Given the description of an element on the screen output the (x, y) to click on. 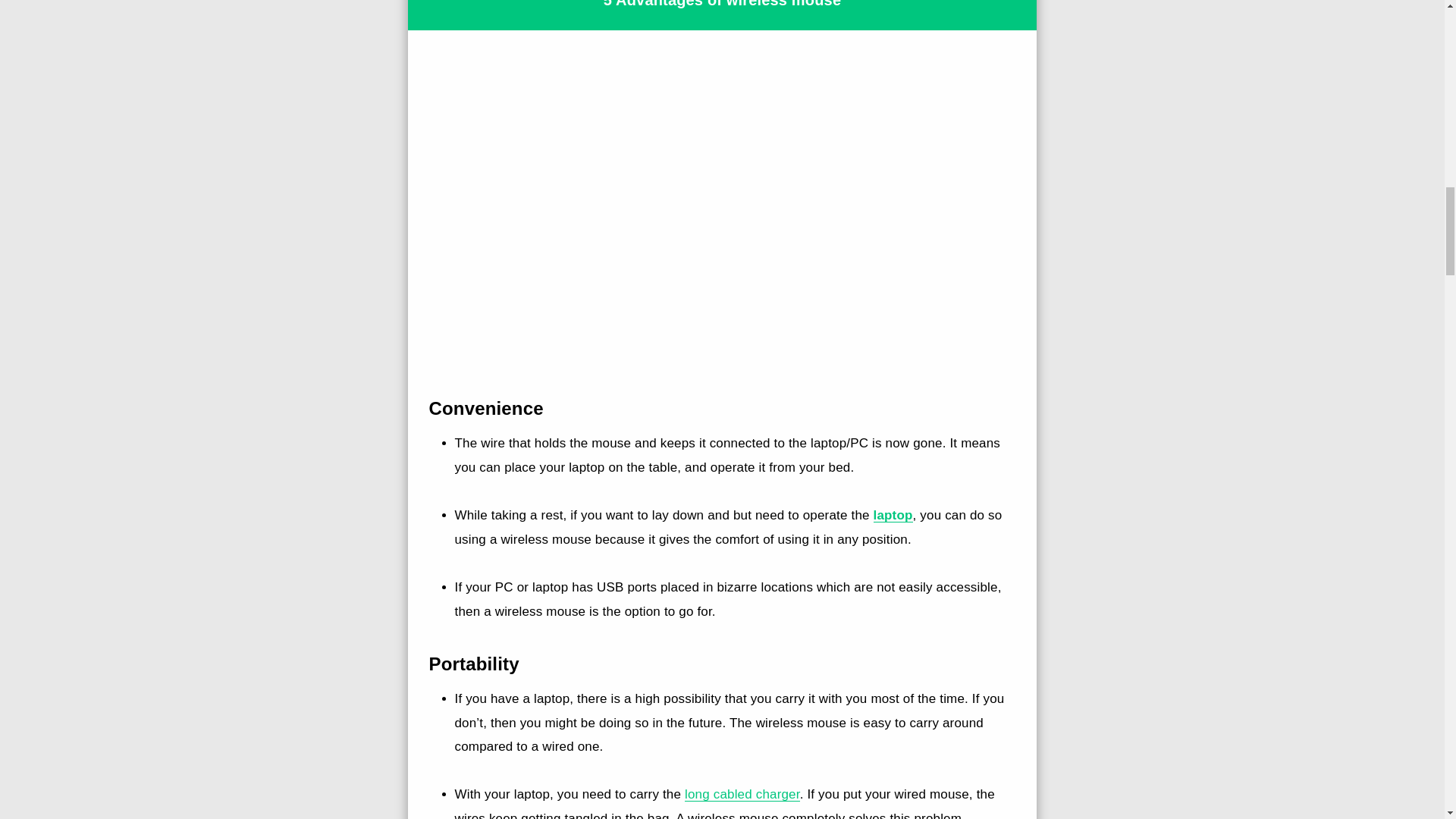
laptop (892, 514)
long cabled charger (741, 794)
